Given the description of an element on the screen output the (x, y) to click on. 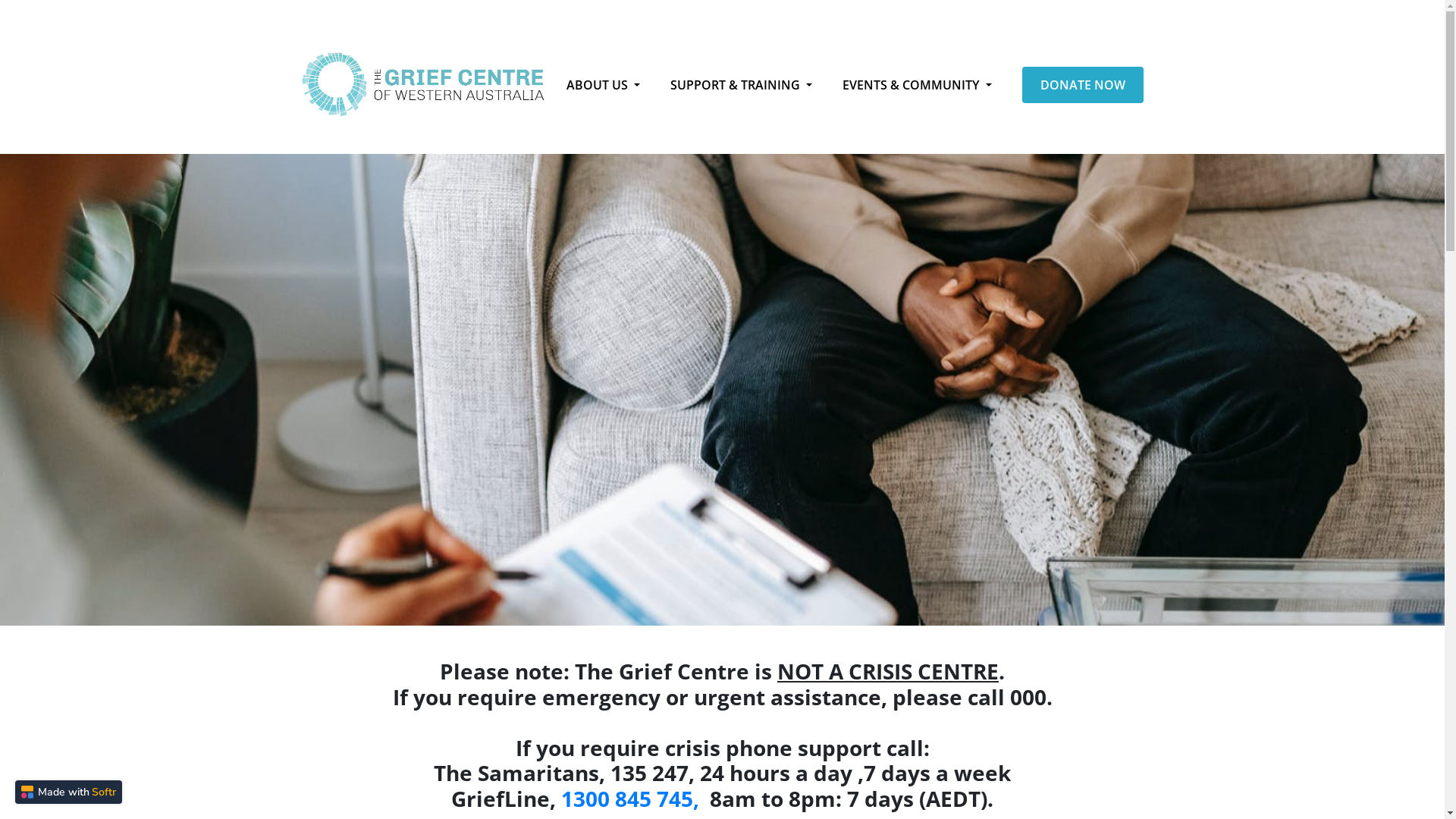
ABOUT US Element type: text (612, 84)
1300 845 745,  Element type: text (632, 798)
Made with
Softr Element type: text (68, 791)
EVENTS & COMMUNITY Element type: text (925, 84)
SUPPORT & TRAINING Element type: text (750, 84)
DONATE NOW Element type: text (1082, 84)
